Given the description of an element on the screen output the (x, y) to click on. 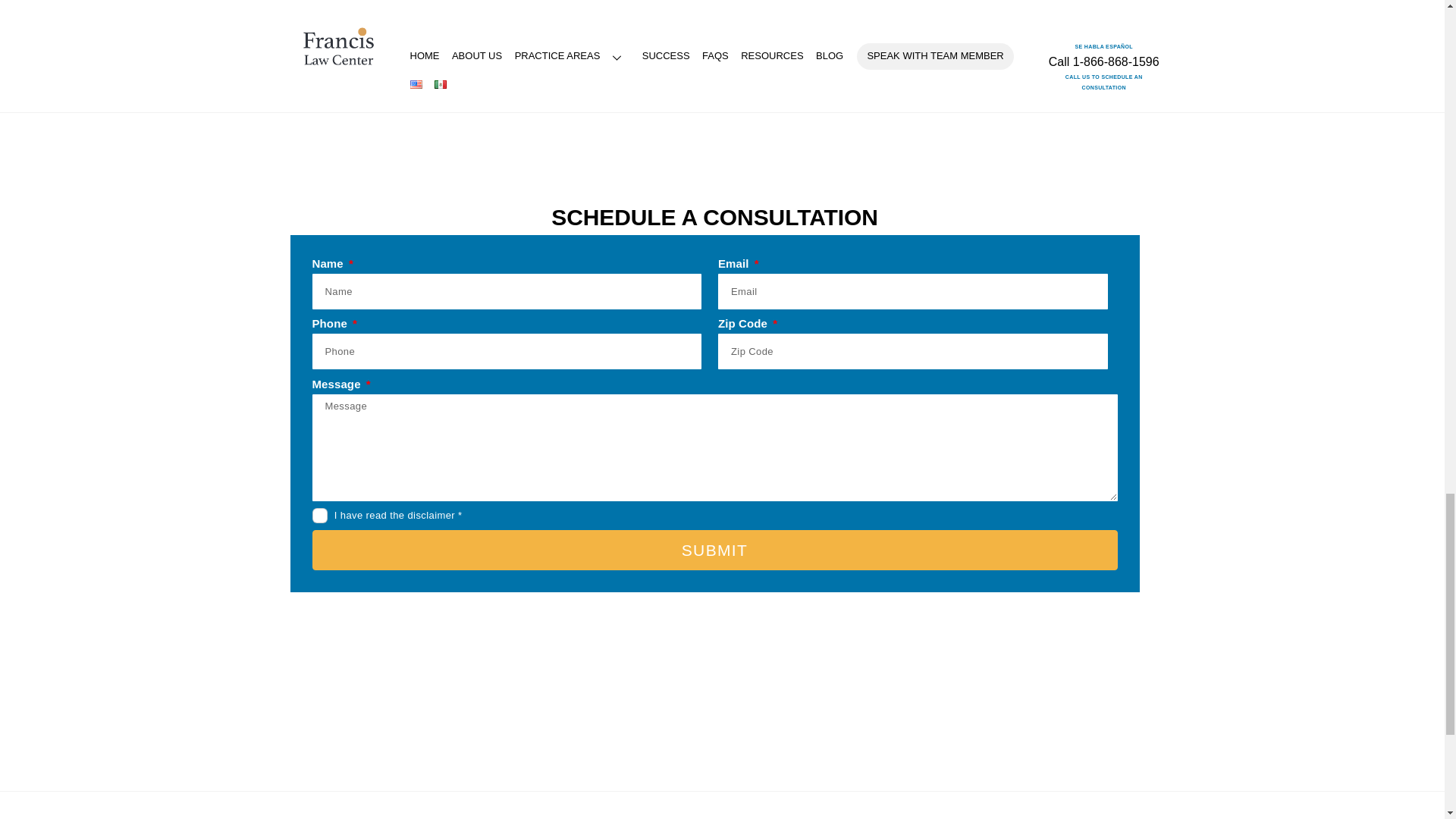
SUBMIT (715, 549)
Naturalization in the United States (441, 91)
U Visas: What and Why? (746, 91)
